Given the description of an element on the screen output the (x, y) to click on. 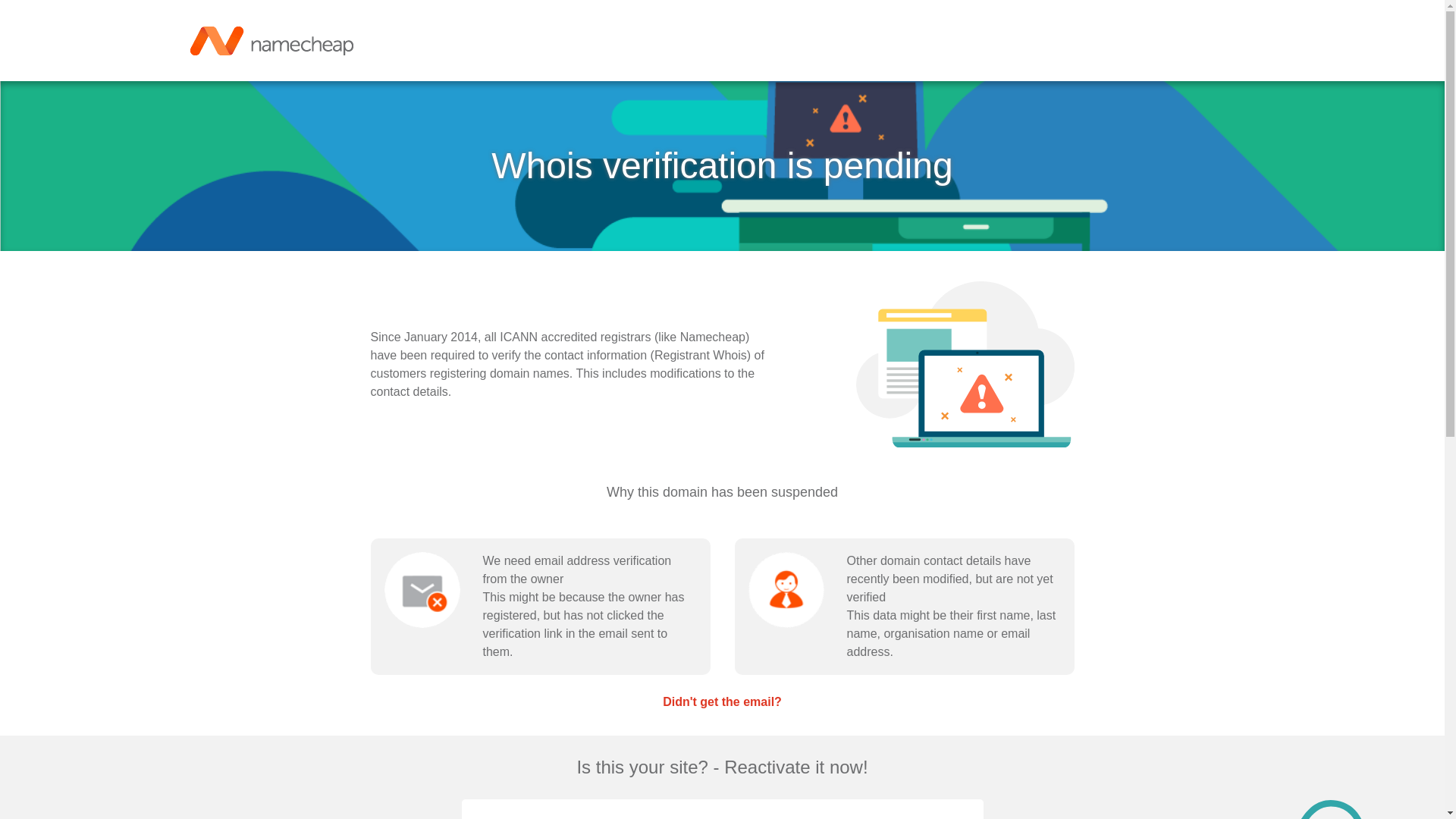
Didn't get the email? (721, 701)
